Given the description of an element on the screen output the (x, y) to click on. 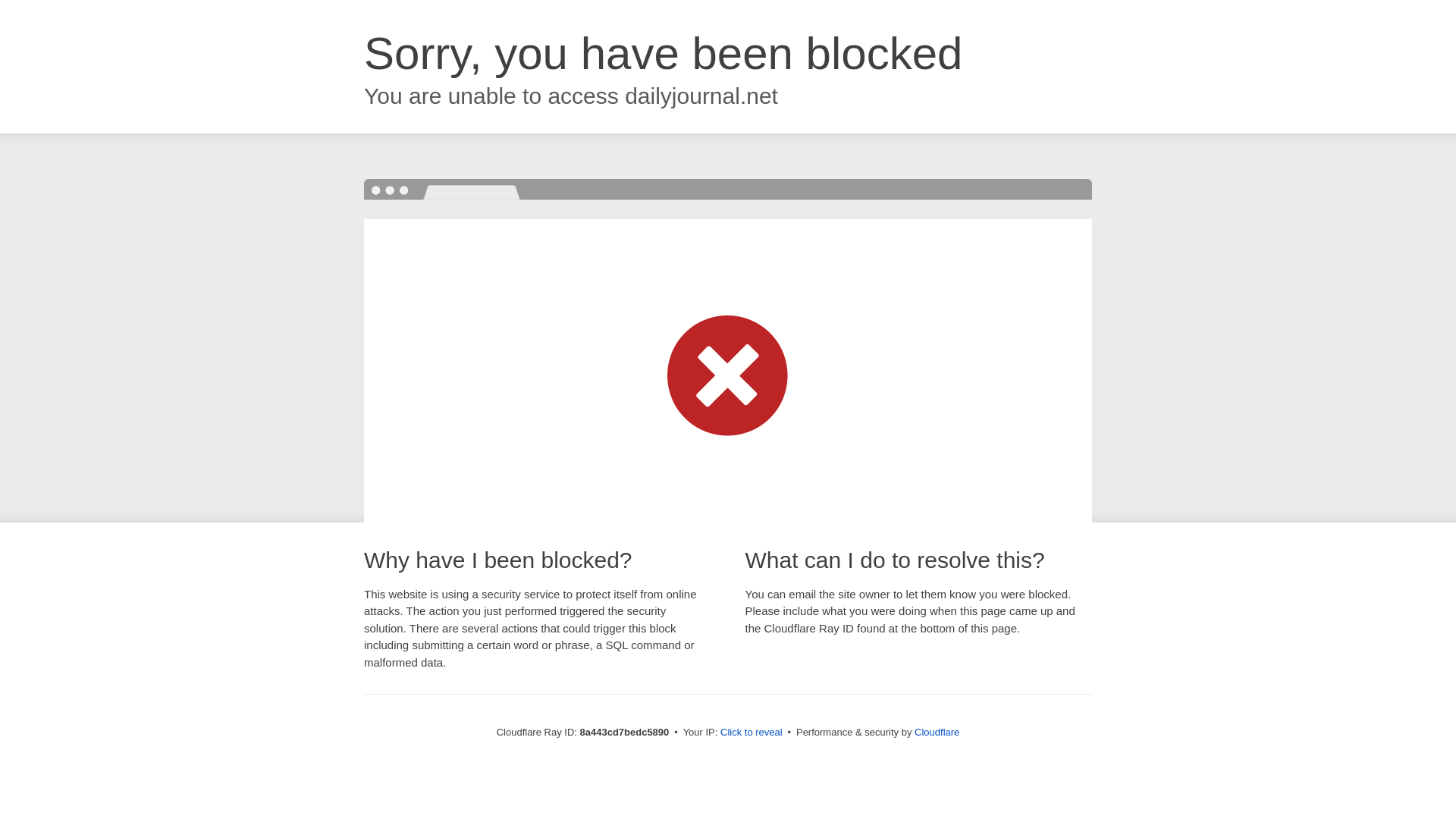
Cloudflare (936, 731)
Click to reveal (751, 732)
